Given the description of an element on the screen output the (x, y) to click on. 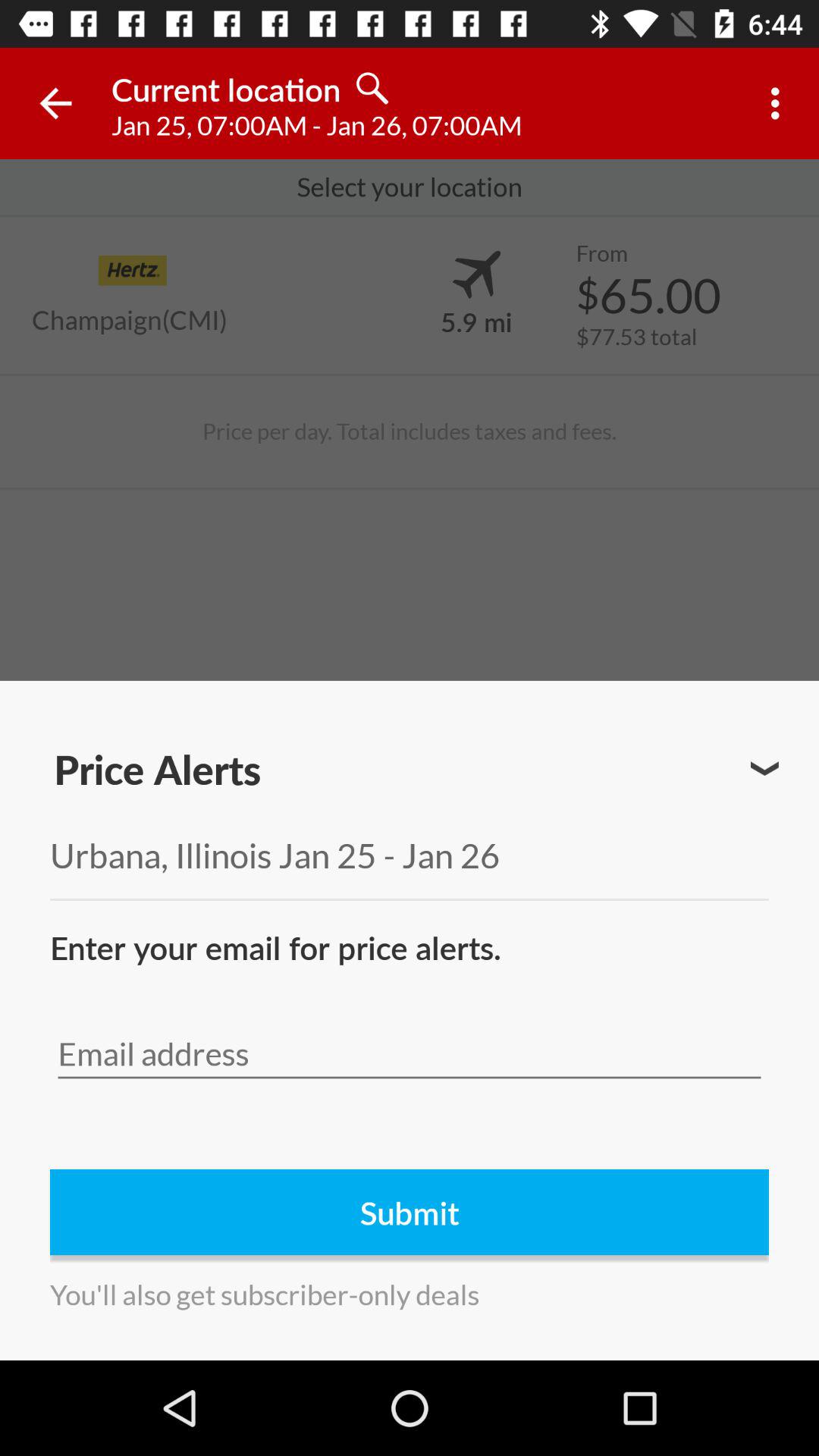
input email address (409, 1054)
